Given the description of an element on the screen output the (x, y) to click on. 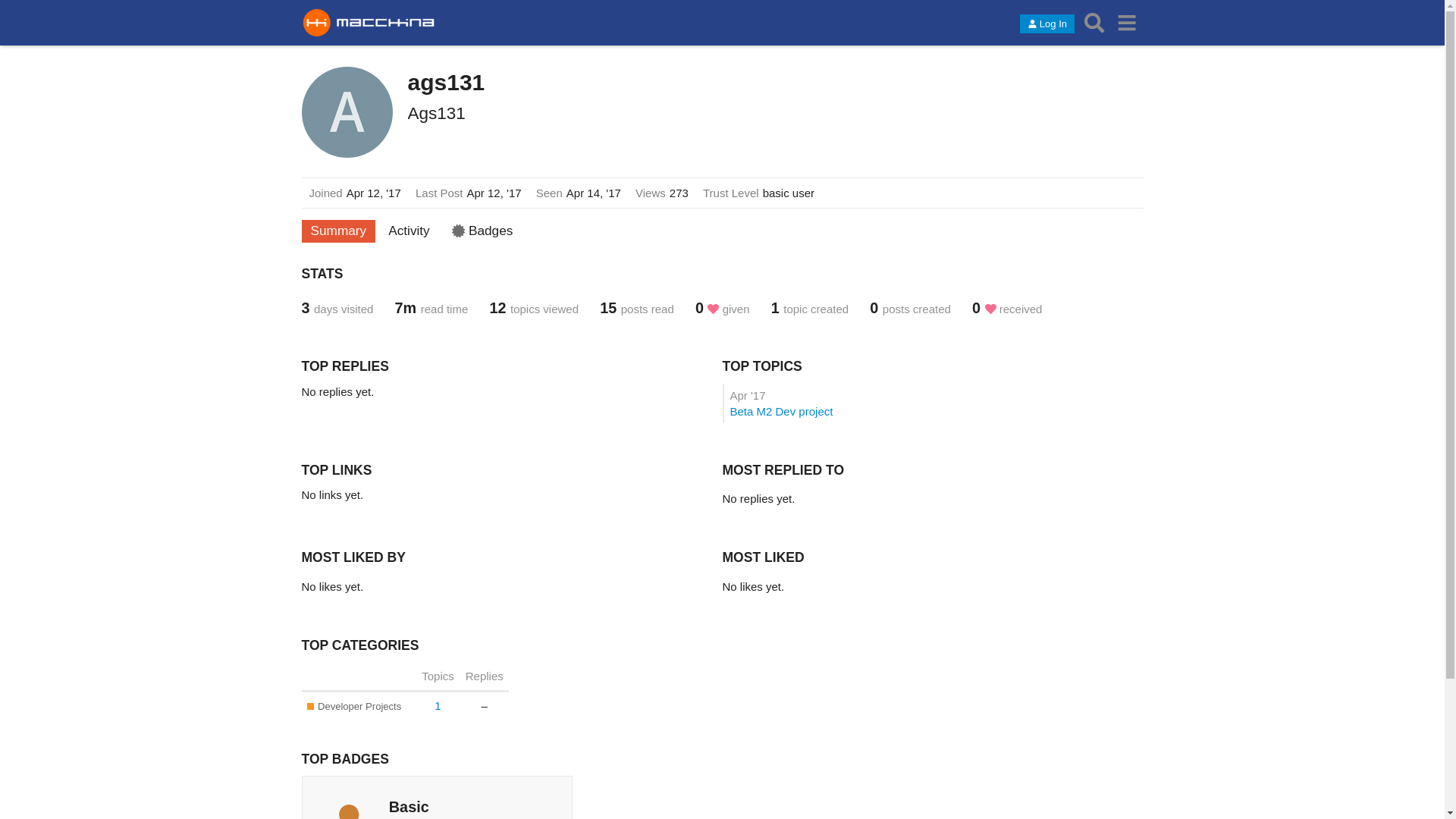
1 topic created Element type: text (820, 308)
Badges Element type: text (482, 230)
go to another topic list or category Element type: hover (1126, 22)
Summary Element type: text (338, 230)
Basic Element type: text (409, 806)
Activity Element type: text (409, 230)
Beta M2 Dev project Element type: text (780, 410)
search topics, posts, users, or categories Element type: hover (1094, 22)
Log In Element type: text (1046, 23)
0
given Element type: text (733, 308)
0 posts created Element type: text (920, 308)
Developer Projects Element type: text (354, 706)
1 Element type: text (437, 705)
